Given the description of an element on the screen output the (x, y) to click on. 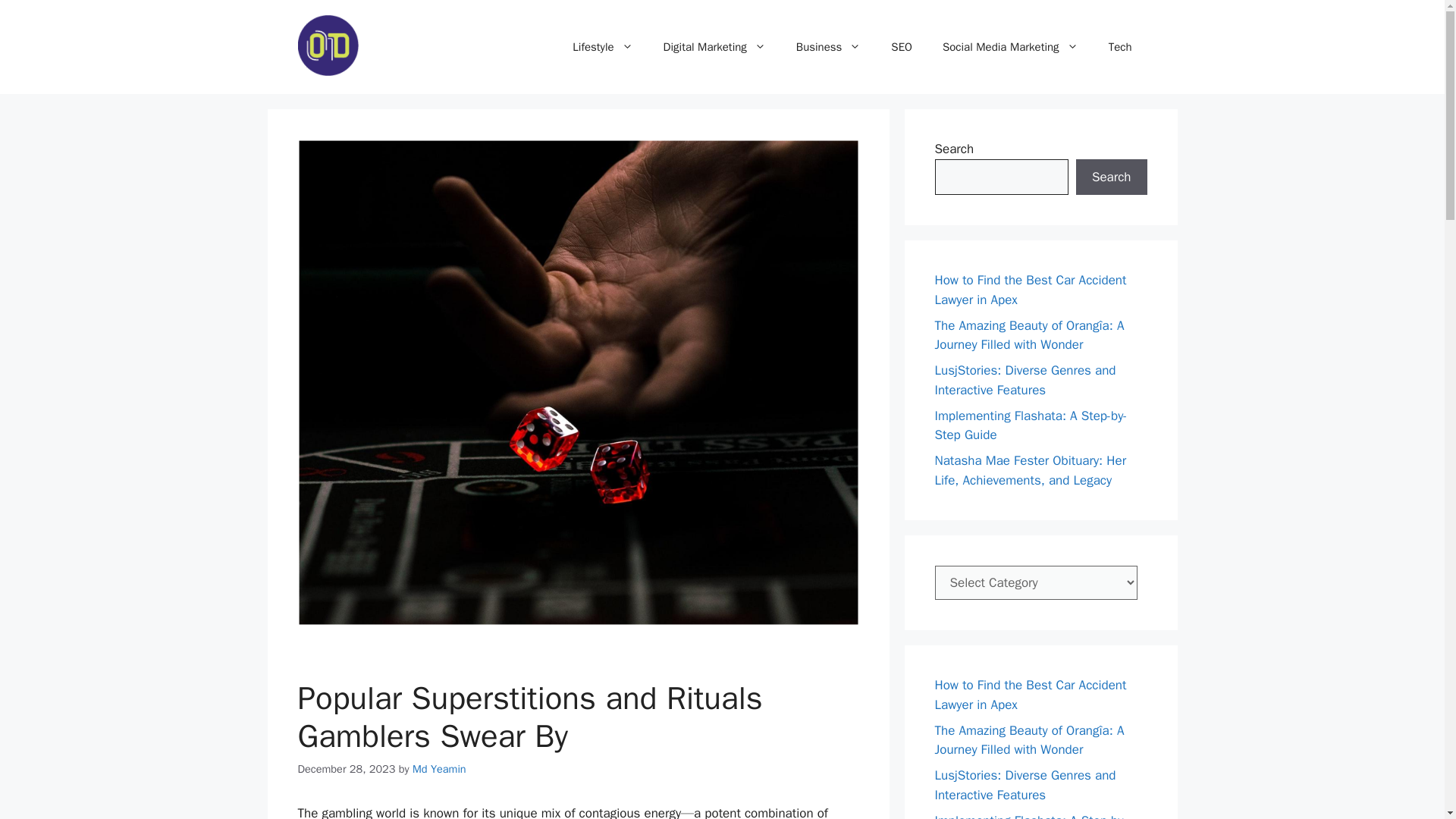
How to Find the Best Car Accident Lawyer in Apex (1029, 289)
Md Yeamin (438, 768)
Social Media Marketing (1010, 46)
Digital Marketing (713, 46)
Business (828, 46)
Search (1111, 176)
Lifestyle (602, 46)
Implementing Flashata: A Step-by-Step Guide (1030, 425)
SEO (901, 46)
View all posts by Md Yeamin (438, 768)
